Given the description of an element on the screen output the (x, y) to click on. 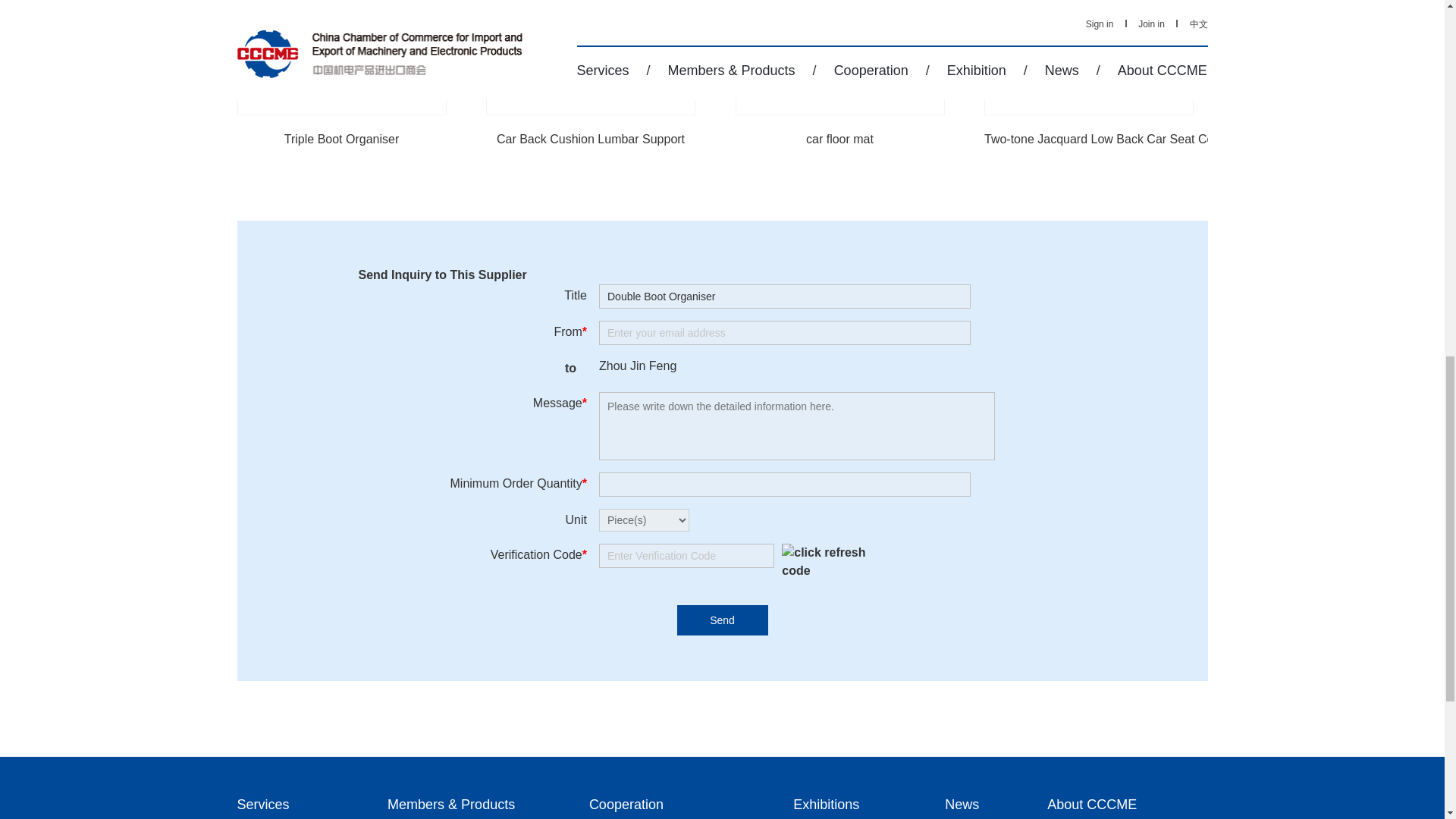
Triple Boot Organiser (340, 57)
Triple Boot Organiser (340, 139)
click refresh code (825, 561)
Car Back Cushion Lumbar Support (590, 139)
Car Back Cushion Lumbar Support (590, 57)
Send (722, 620)
car floor mat (839, 139)
Two-tone Jacquard Low Back Car Seat Cover (1088, 57)
Double Boot Organiser (784, 296)
click refresh code (822, 561)
car floor mat (839, 57)
Two-tone Jacquard Low Back Car Seat Cover (1107, 139)
